Given the description of an element on the screen output the (x, y) to click on. 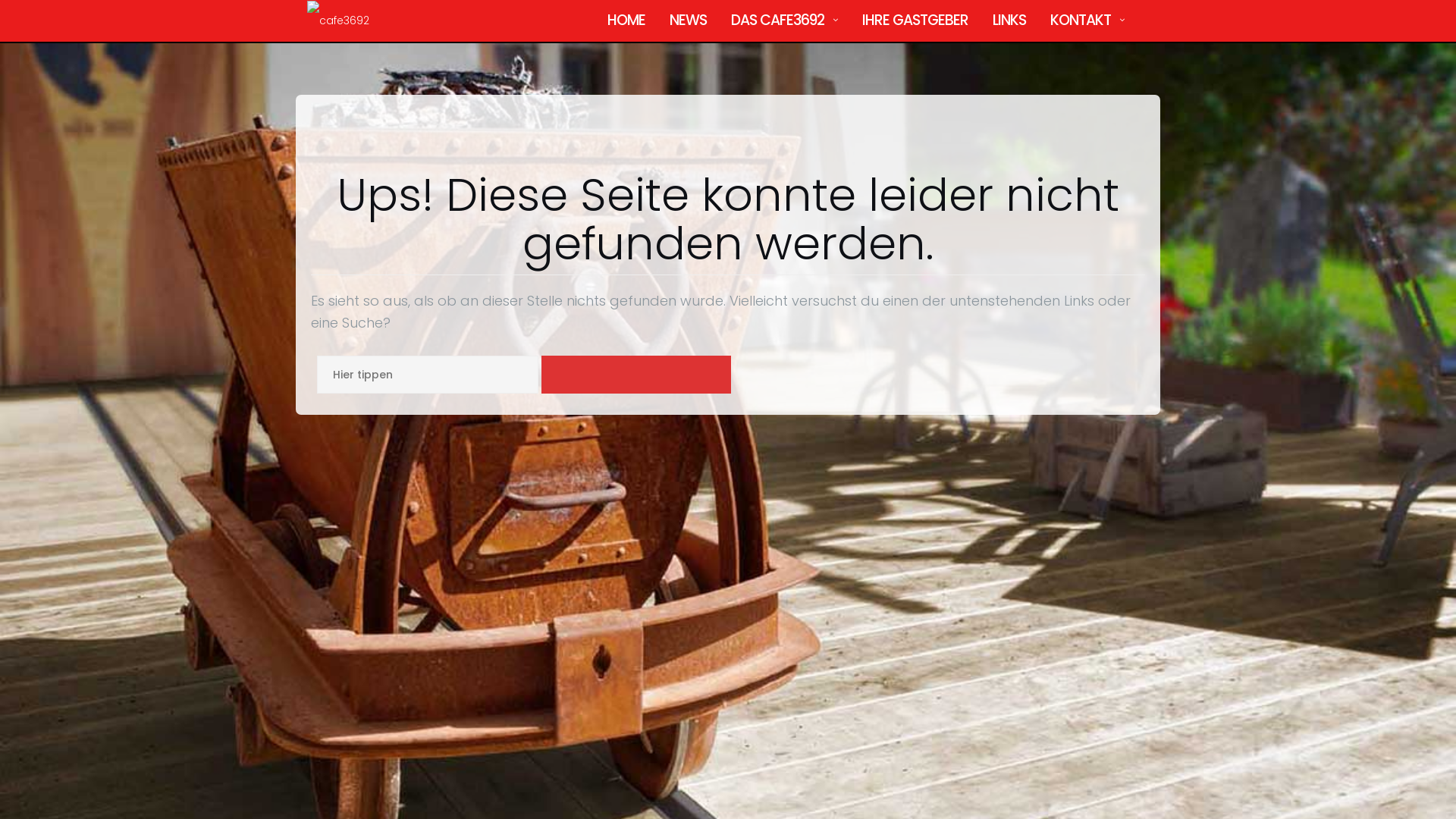
IHRE GASTGEBER Element type: text (915, 20)
KONTAKT Element type: text (1080, 20)
DAS CAFE3692 Element type: text (777, 20)
LINKS Element type: text (1009, 20)
SUCHEN Element type: text (636, 374)
NEWS Element type: text (687, 20)
HOME Element type: text (626, 20)
